Given the description of an element on the screen output the (x, y) to click on. 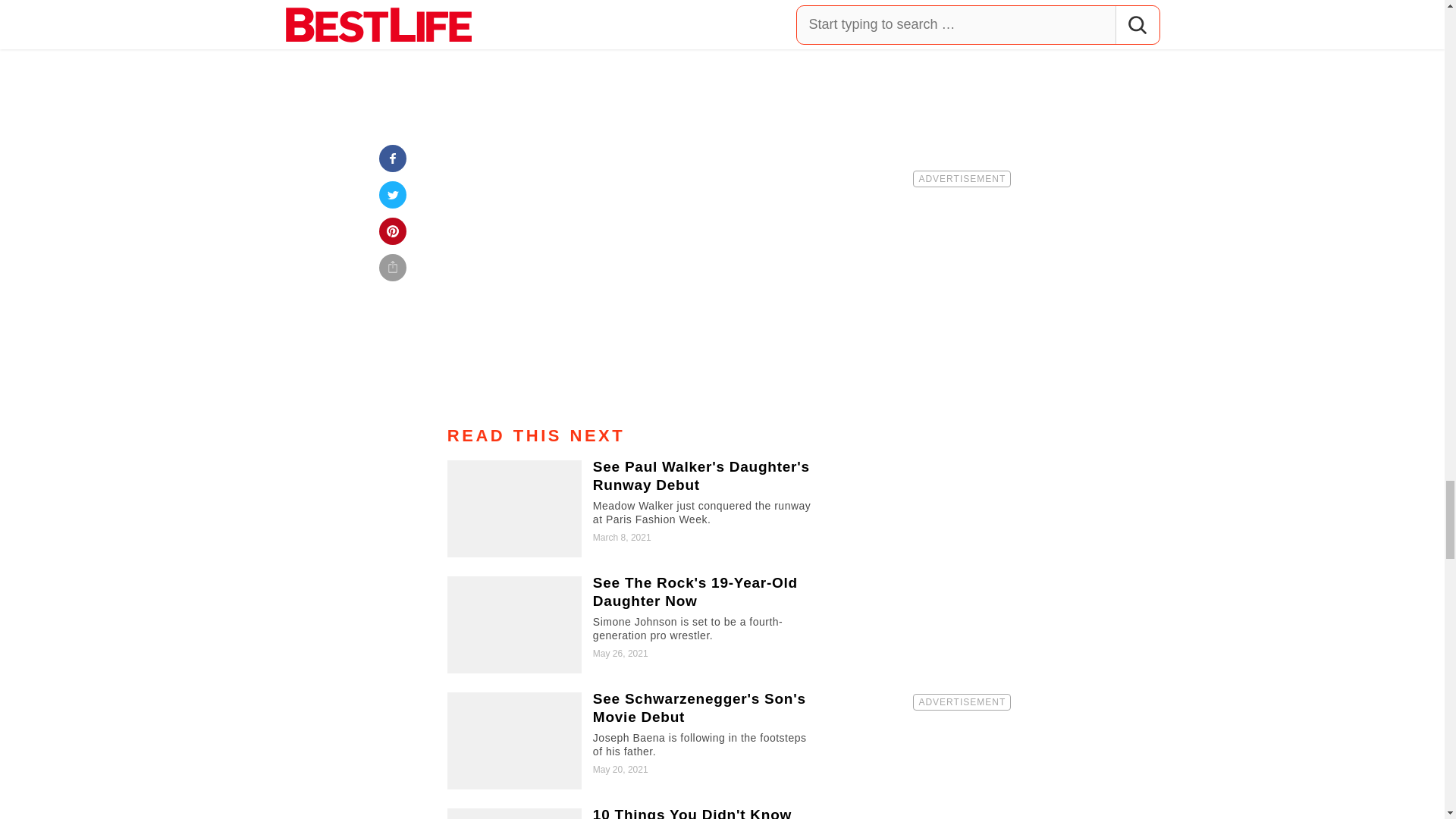
10 Things You Didn't Know about Justin Trudeau (635, 813)
See The Rock's 19-Year-Old Daughter Now (635, 624)
See Paul Walker's Daughter's Runway Debut (635, 508)
See Schwarzenegger's Son's Movie Debut (635, 740)
